Given the description of an element on the screen output the (x, y) to click on. 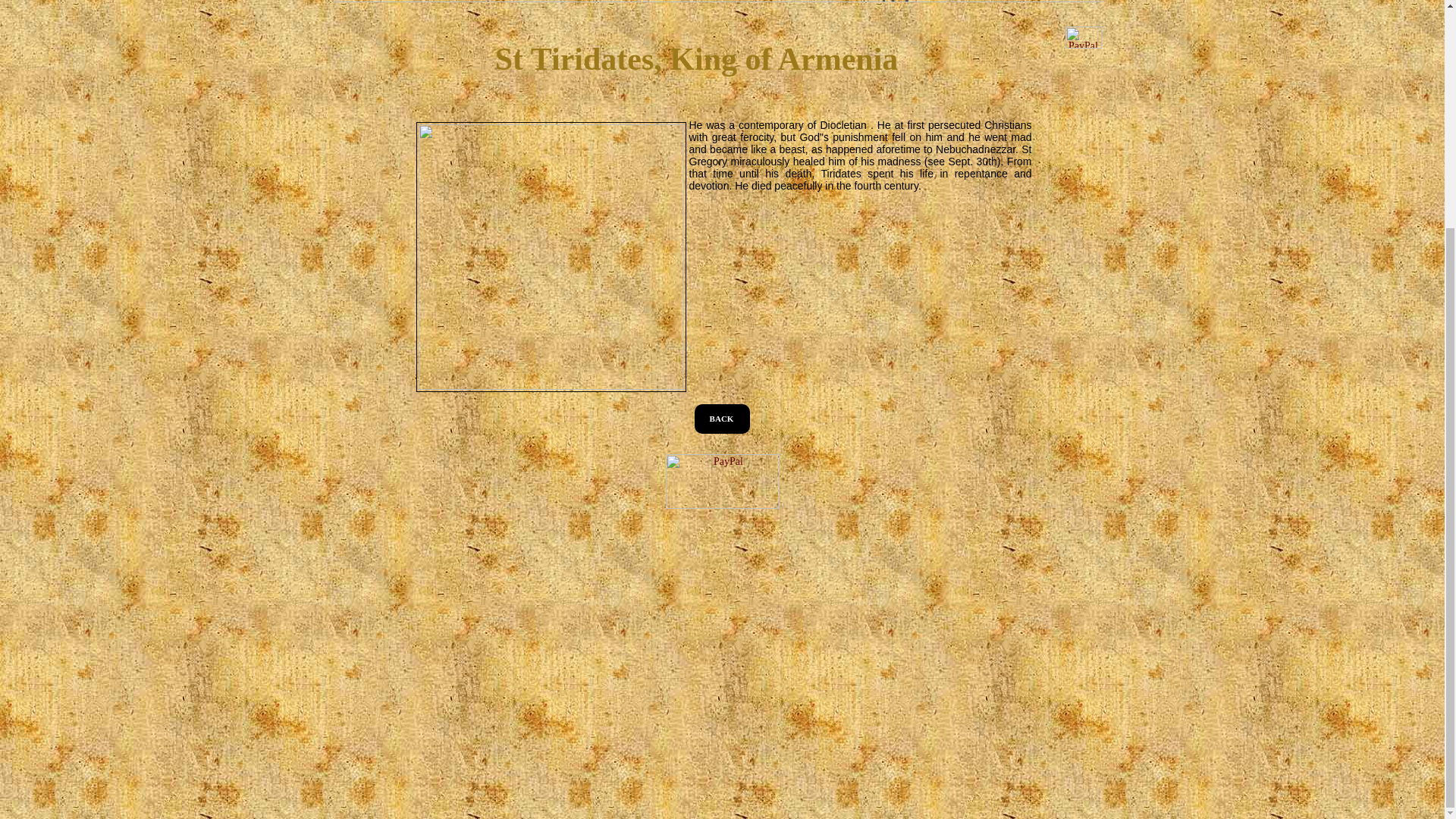
BACK (722, 419)
Contact (1026, 1)
For Webmasters (871, 1)
Moon phases (563, 1)
Fasting (410, 1)
History (718, 1)
